Given the description of an element on the screen output the (x, y) to click on. 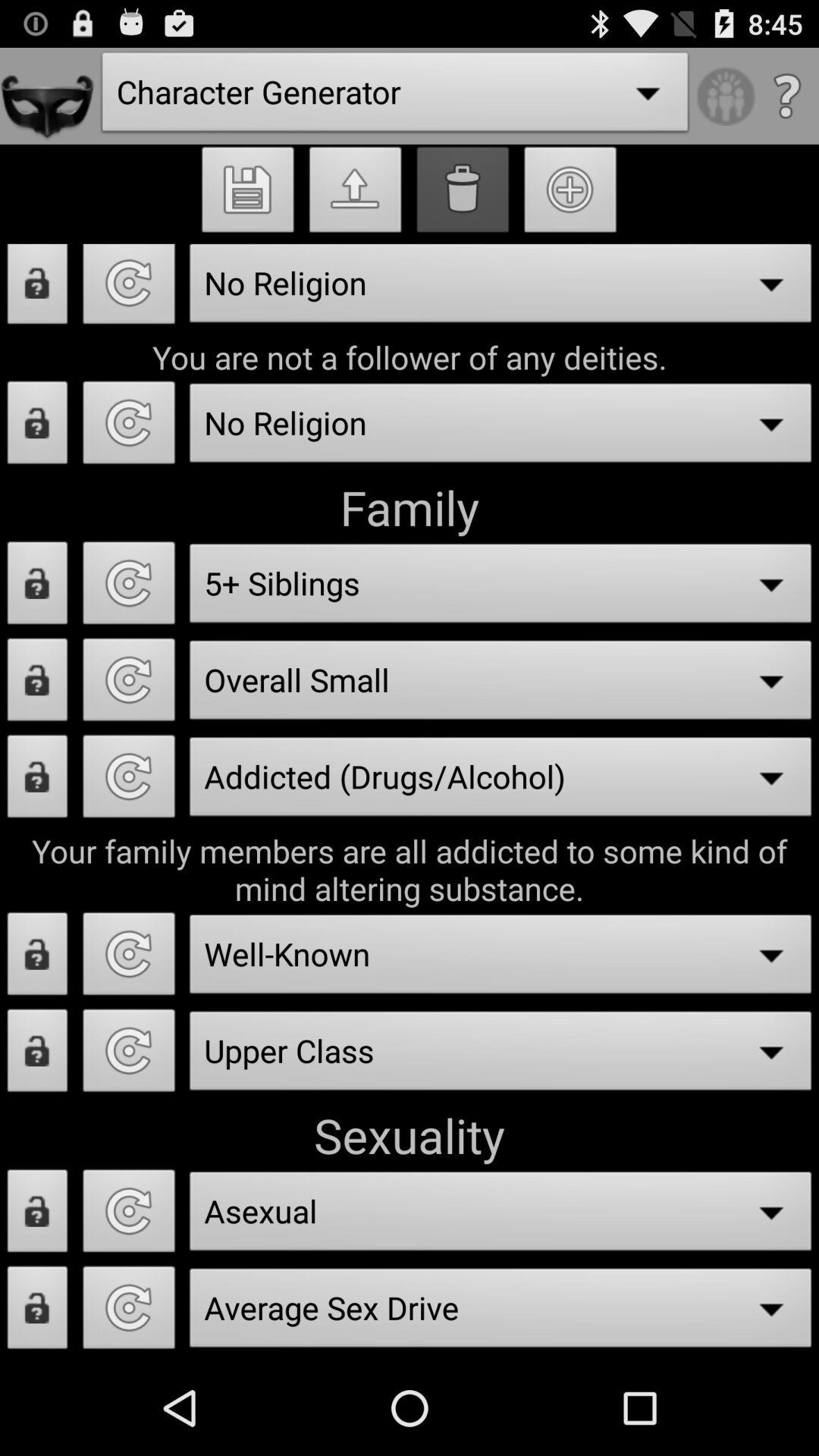
toggle lock option (37, 683)
